Given the description of an element on the screen output the (x, y) to click on. 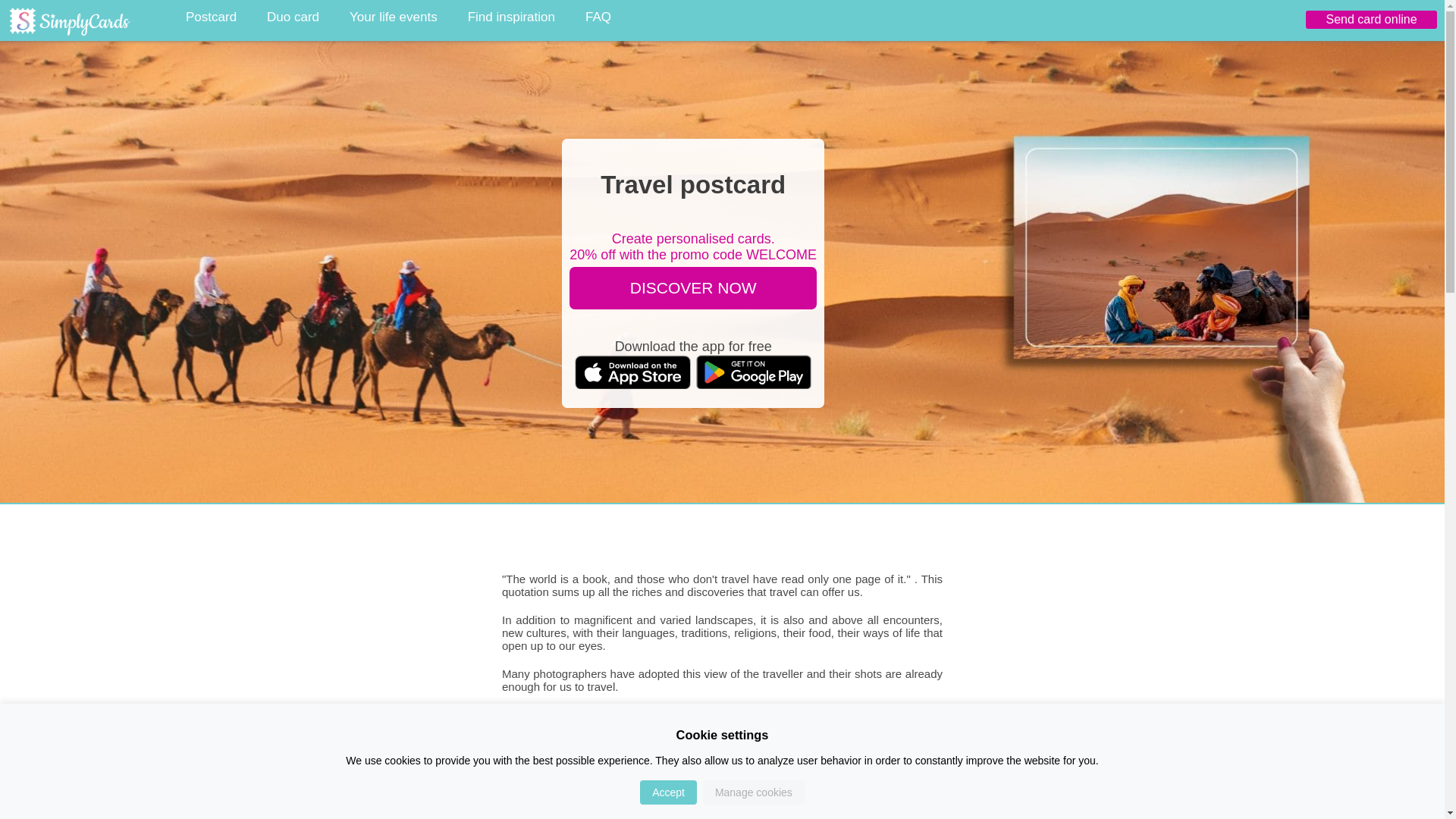
Duo card (292, 16)
Your life events (393, 16)
Postcard (210, 16)
